Given the description of an element on the screen output the (x, y) to click on. 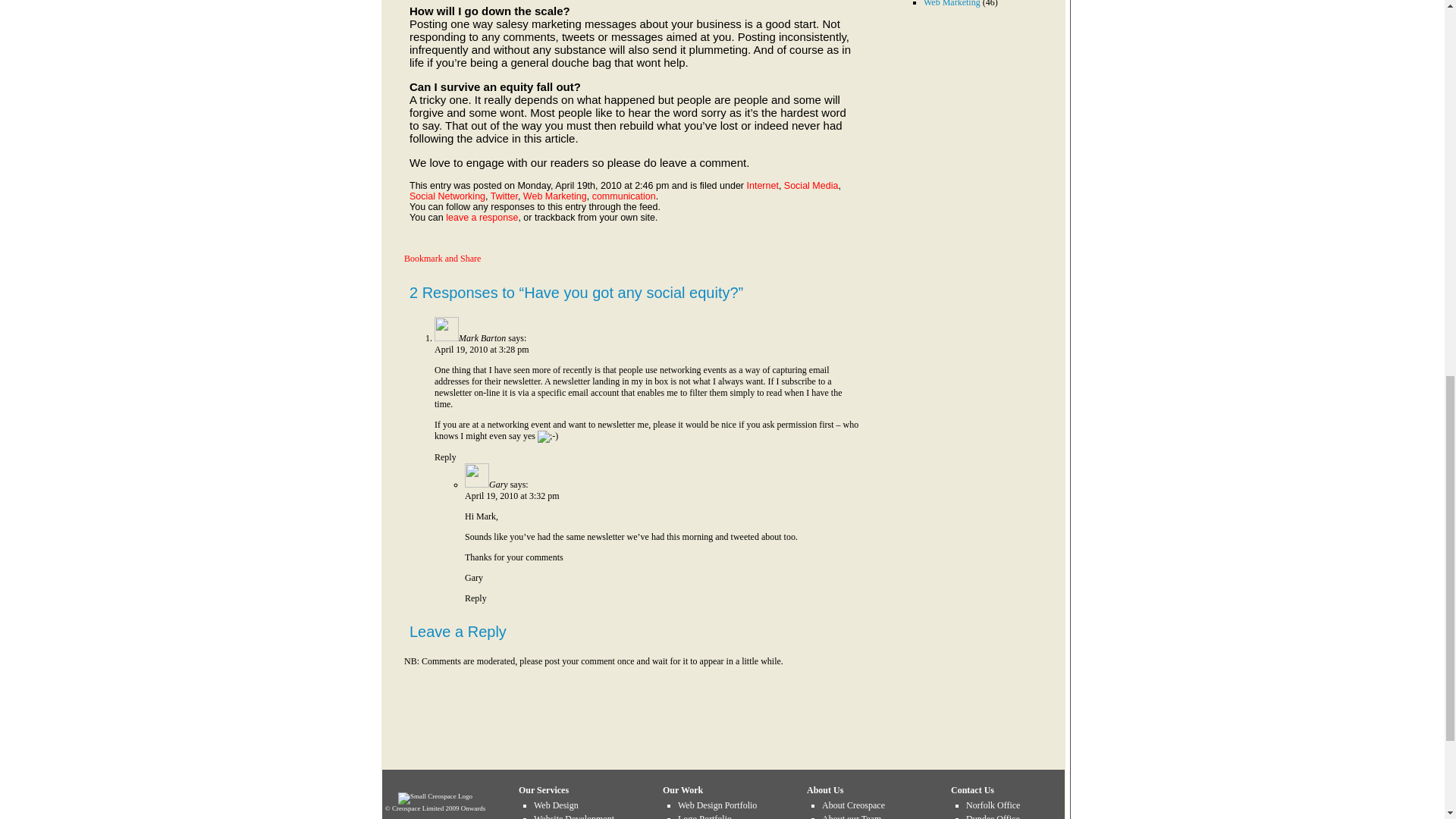
Twitter (504, 195)
communication (624, 195)
Social Media (811, 185)
View all posts in Social Media (811, 185)
View all posts in Twitter (504, 195)
leave a response (481, 217)
View all posts in Social Networking (446, 195)
View all posts in Web Marketing (554, 195)
Internet (761, 185)
Social Networking (446, 195)
View all posts in Internet (761, 185)
View all posts in communication (624, 195)
Web Marketing (554, 195)
